Given the description of an element on the screen output the (x, y) to click on. 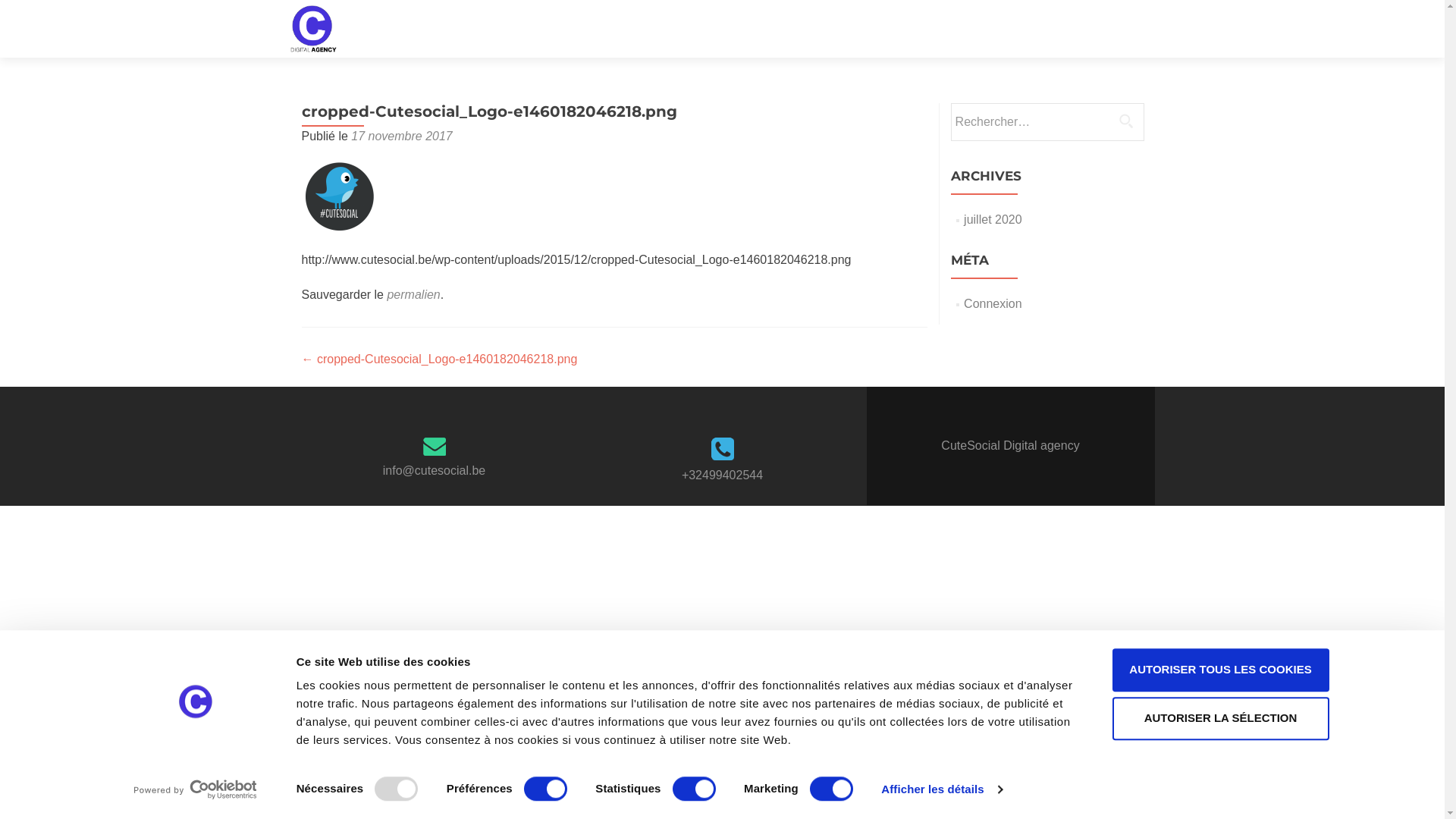
AUTORISER TOUS LES COOKIES Element type: text (1219, 669)
Rechercher Element type: text (1125, 120)
Connexion Element type: text (992, 303)
17 novembre 2017 Element type: text (401, 135)
permalien Element type: text (412, 294)
Aller au contenu principal Element type: text (1211, 9)
juillet 2020 Element type: text (992, 219)
info@cutesocial.be Element type: text (433, 470)
